Given the description of an element on the screen output the (x, y) to click on. 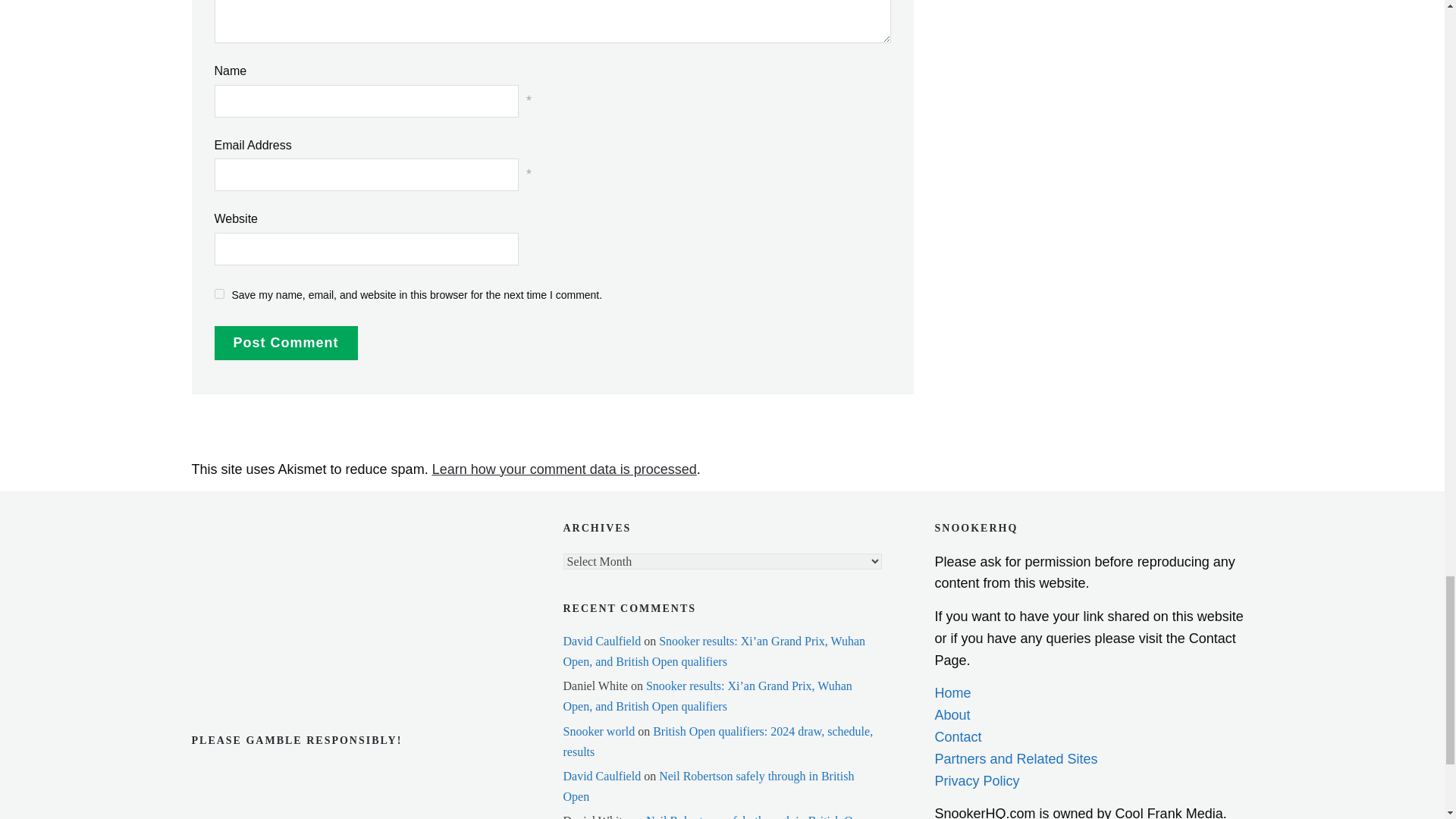
nongamstopbets-sports-betting (266, 576)
Post Comment (285, 342)
yes (219, 293)
ngc-uk-betting-sites-not-on-gamstop (266, 531)
non-gamstop-betting-sites (266, 622)
